Given the description of an element on the screen output the (x, y) to click on. 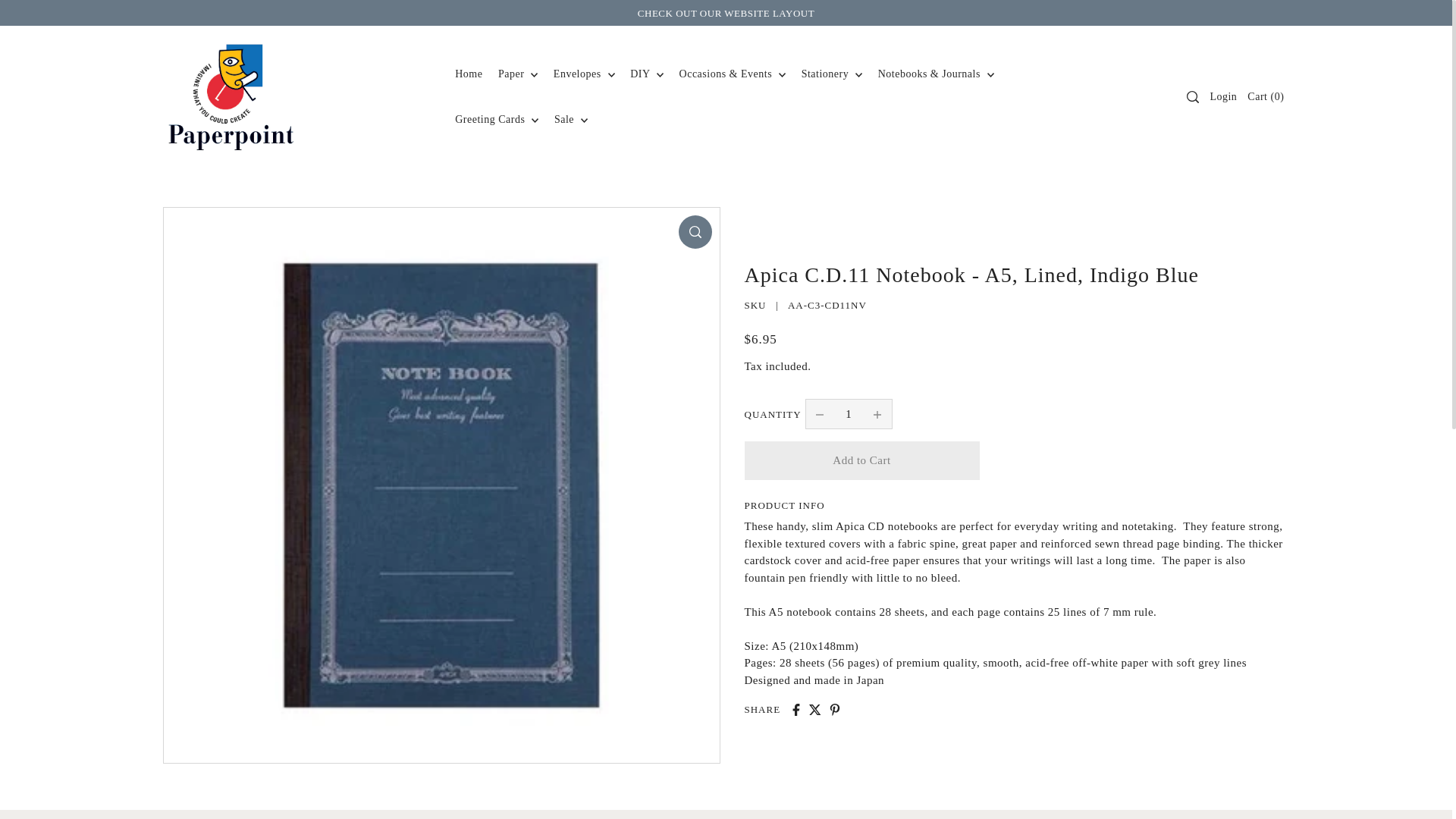
Home (467, 74)
Paper (517, 74)
1 (848, 413)
Add to Cart (861, 460)
click to zoom-in (694, 231)
